Given the description of an element on the screen output the (x, y) to click on. 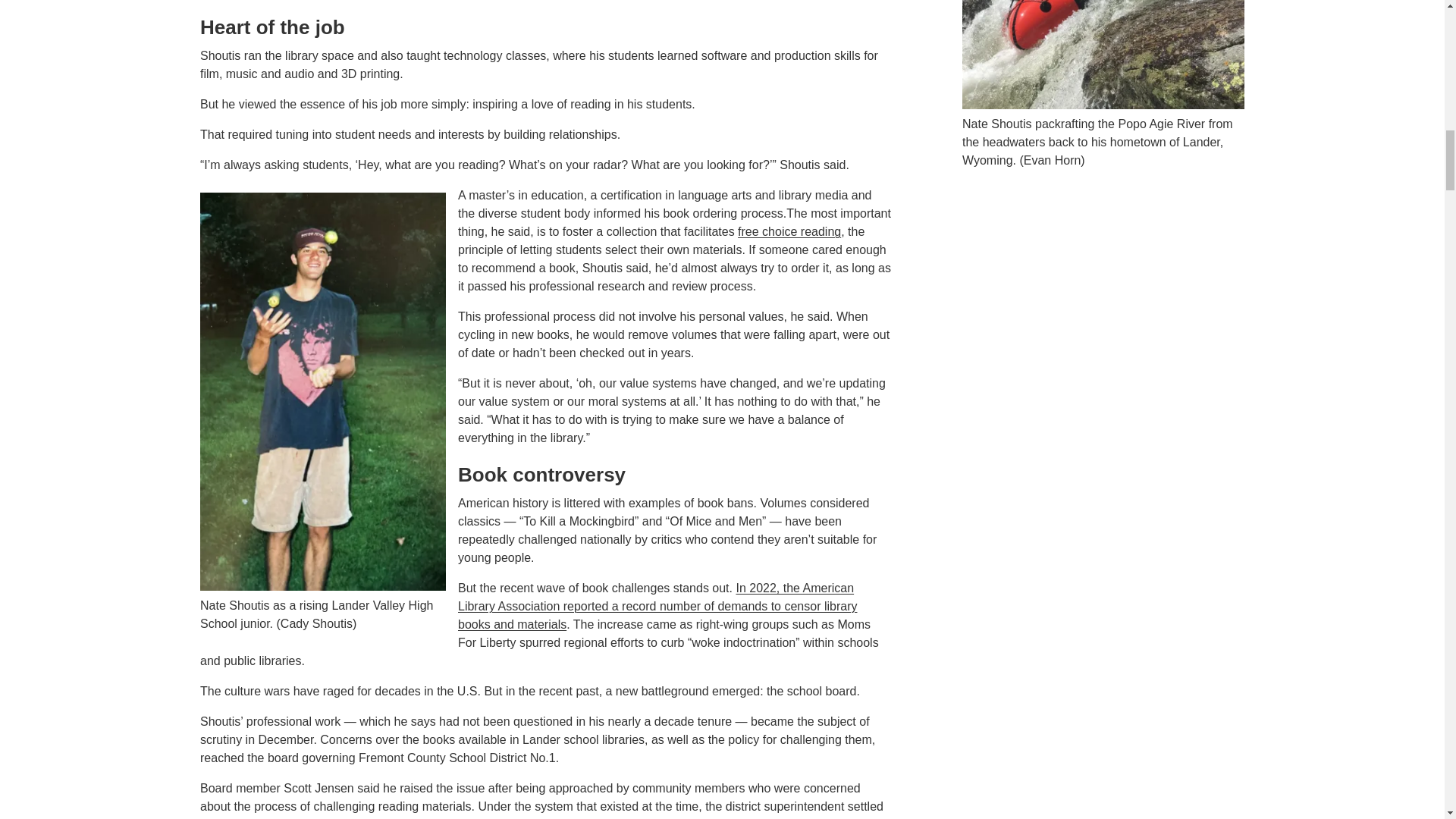
free choice reading (789, 231)
